Given the description of an element on the screen output the (x, y) to click on. 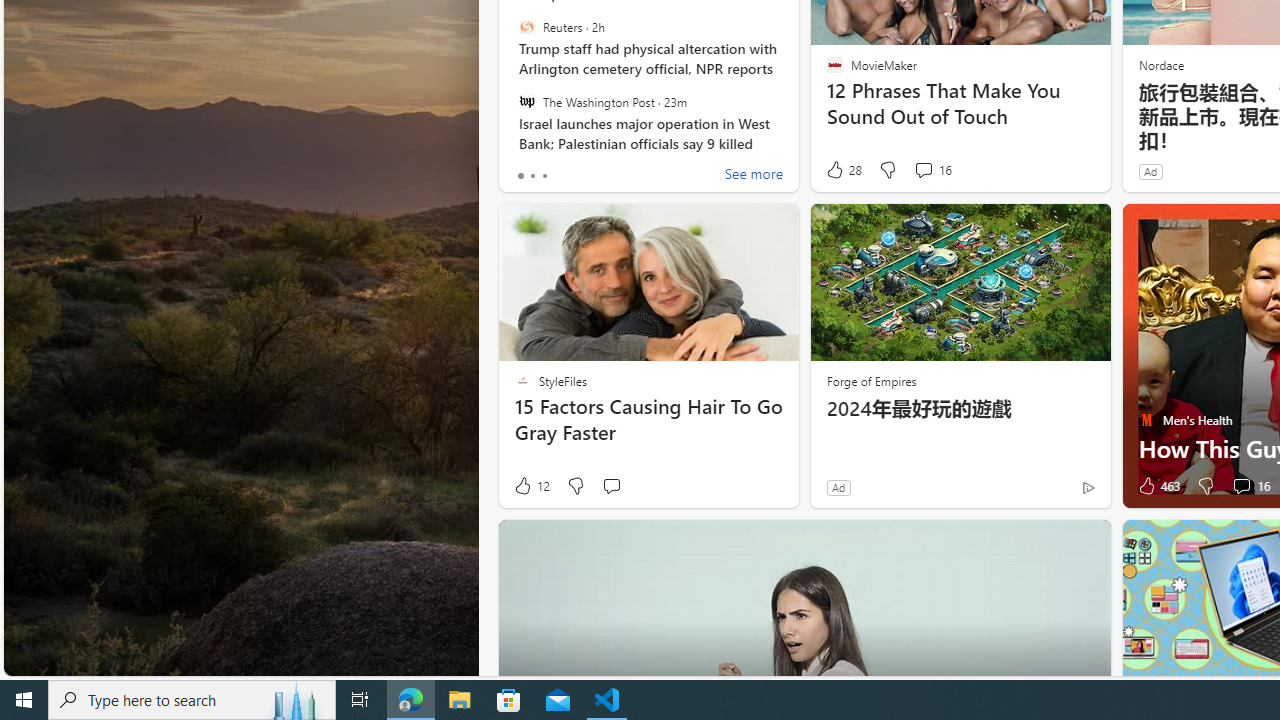
tab-0 (520, 175)
Dislike (1204, 485)
12 Like (531, 485)
Forge of Empires (870, 380)
28 Like (843, 170)
Start the conversation (610, 485)
